Given the description of an element on the screen output the (x, y) to click on. 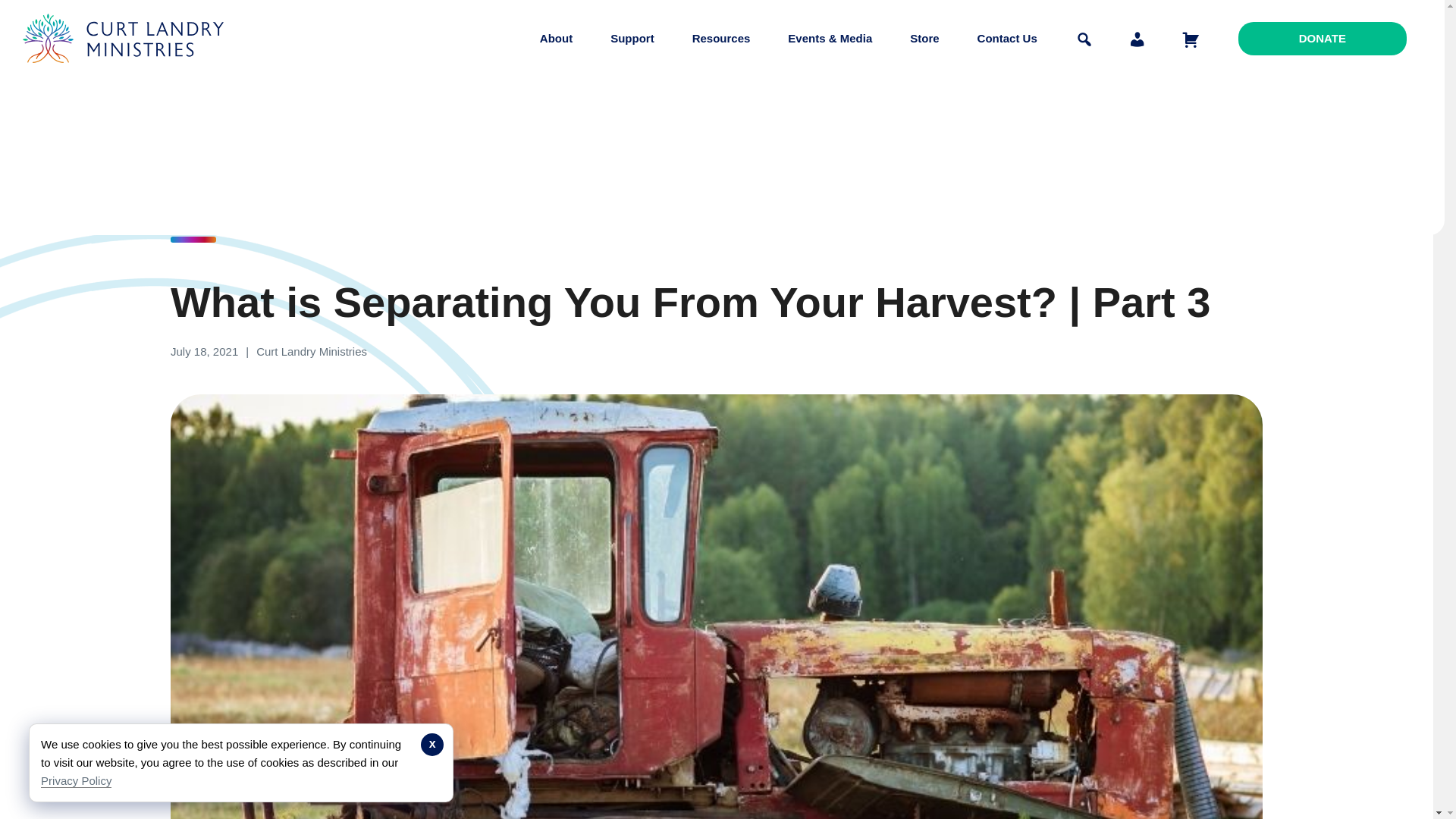
Store (924, 38)
About (556, 38)
Curt Landry Ministries (127, 74)
Resources (721, 38)
Support (631, 38)
